Given the description of an element on the screen output the (x, y) to click on. 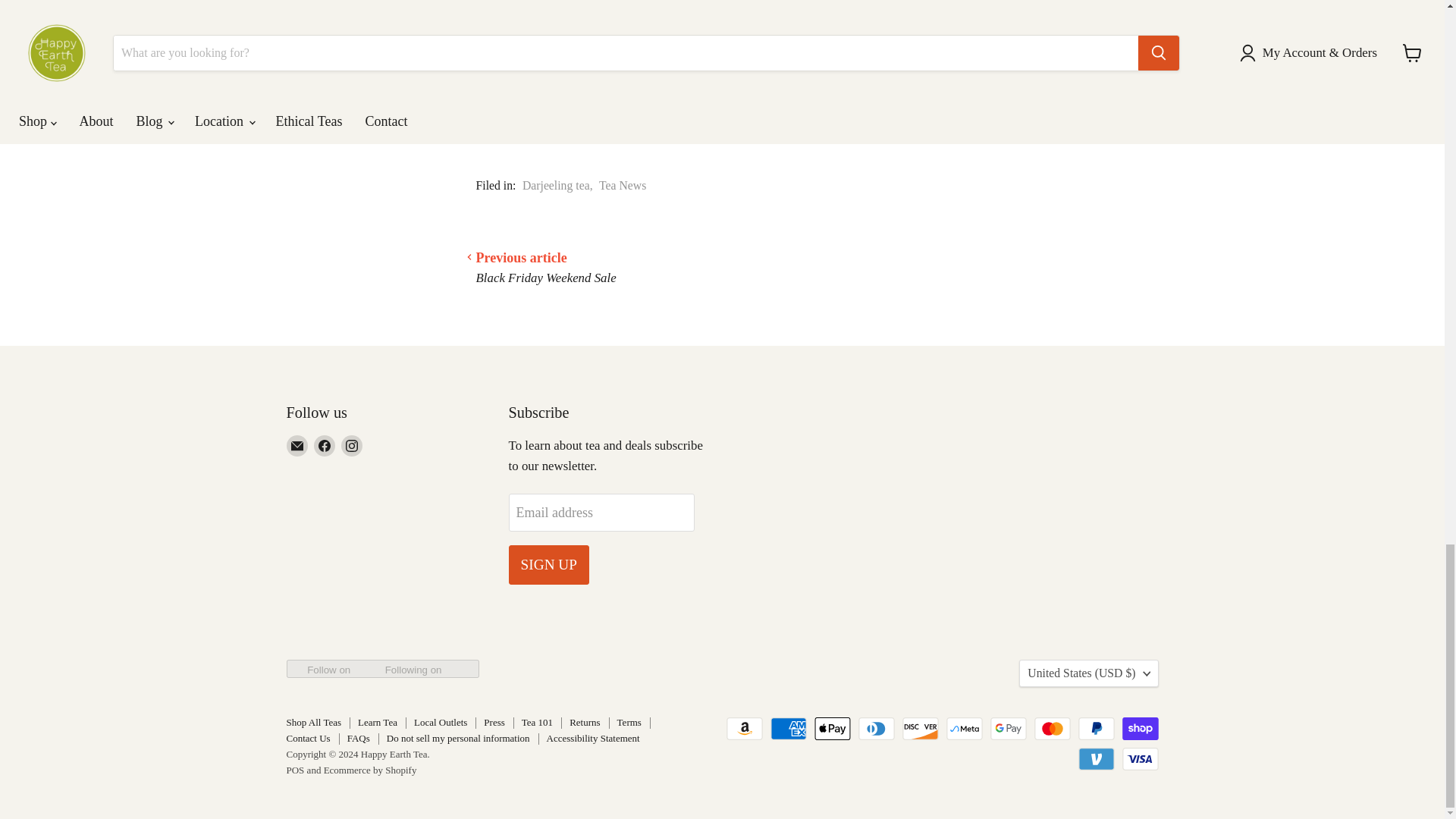
Diners Club (877, 728)
Show articles tagged Darjeeling tea (555, 185)
Discover (920, 728)
Facebook (324, 445)
Instagram (351, 445)
Amazon (744, 728)
American Express (788, 728)
Email (296, 445)
Show articles tagged Tea News (622, 185)
Apple Pay (831, 728)
